Given the description of an element on the screen output the (x, y) to click on. 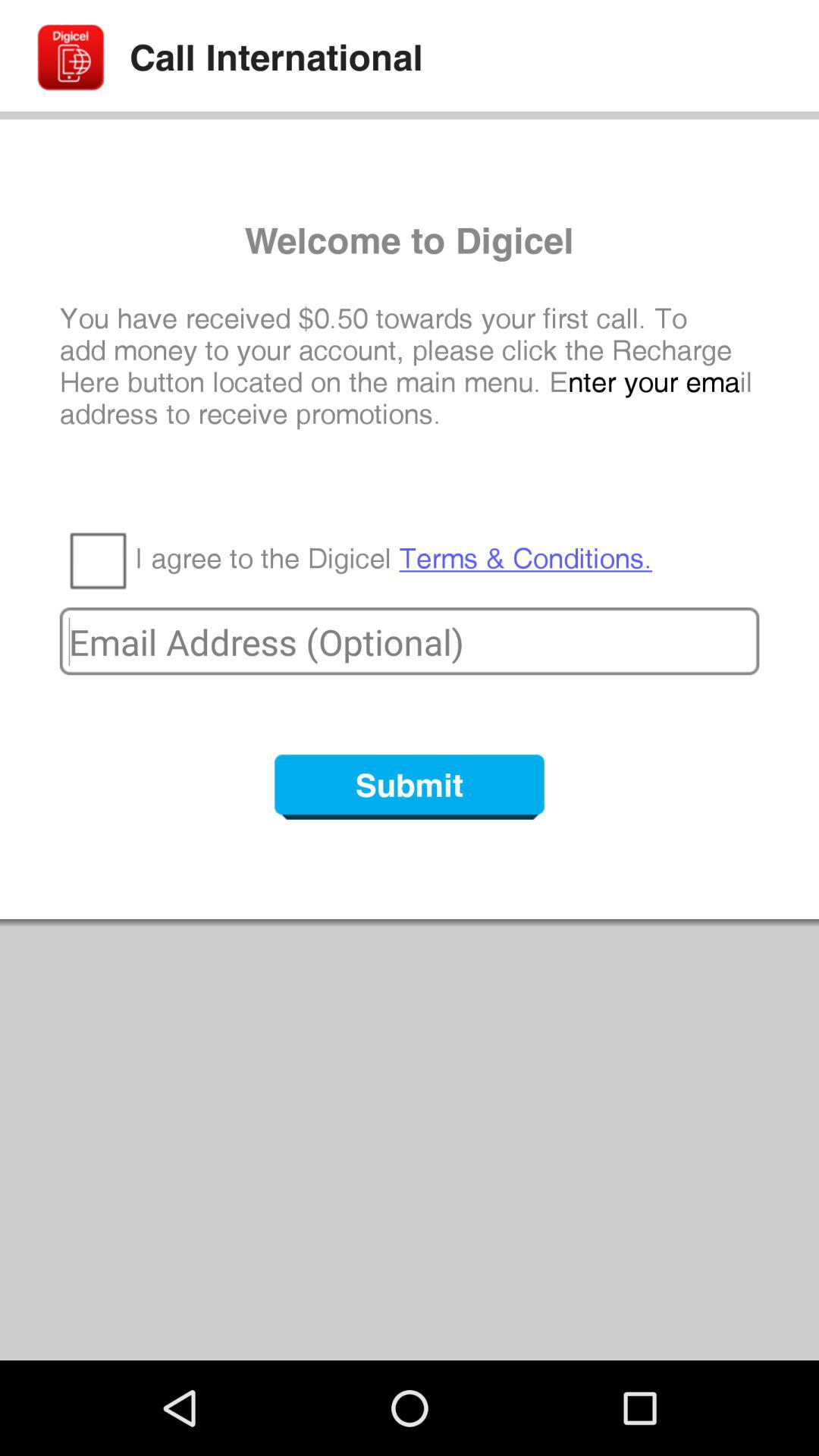
check this box (97, 559)
